Given the description of an element on the screen output the (x, y) to click on. 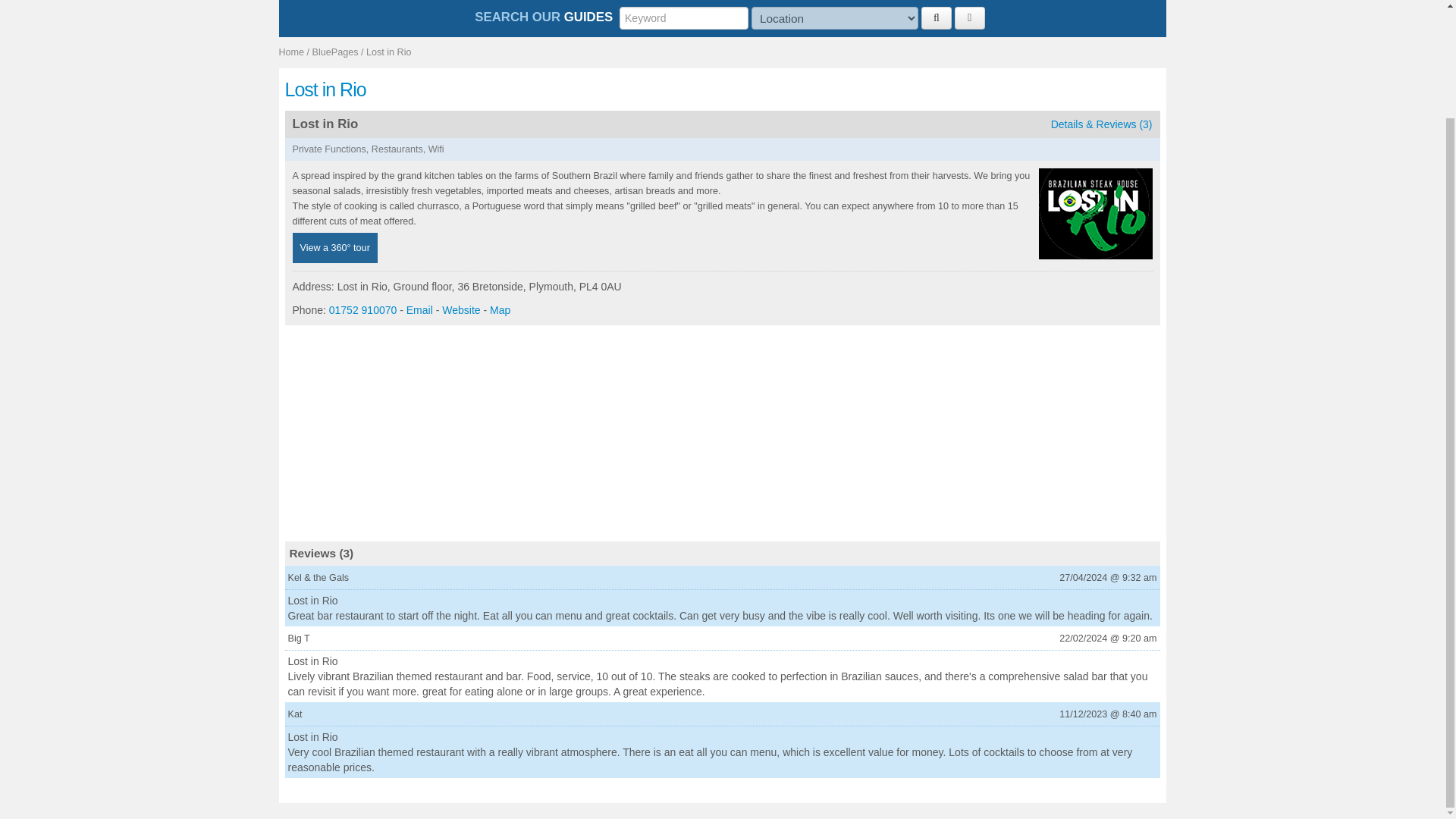
Map (500, 309)
01752 910070 (363, 309)
Lost in Rio (389, 51)
Email (419, 309)
BluePages (335, 51)
Website (461, 309)
Lost in Rio (722, 89)
Home (291, 51)
